Given the description of an element on the screen output the (x, y) to click on. 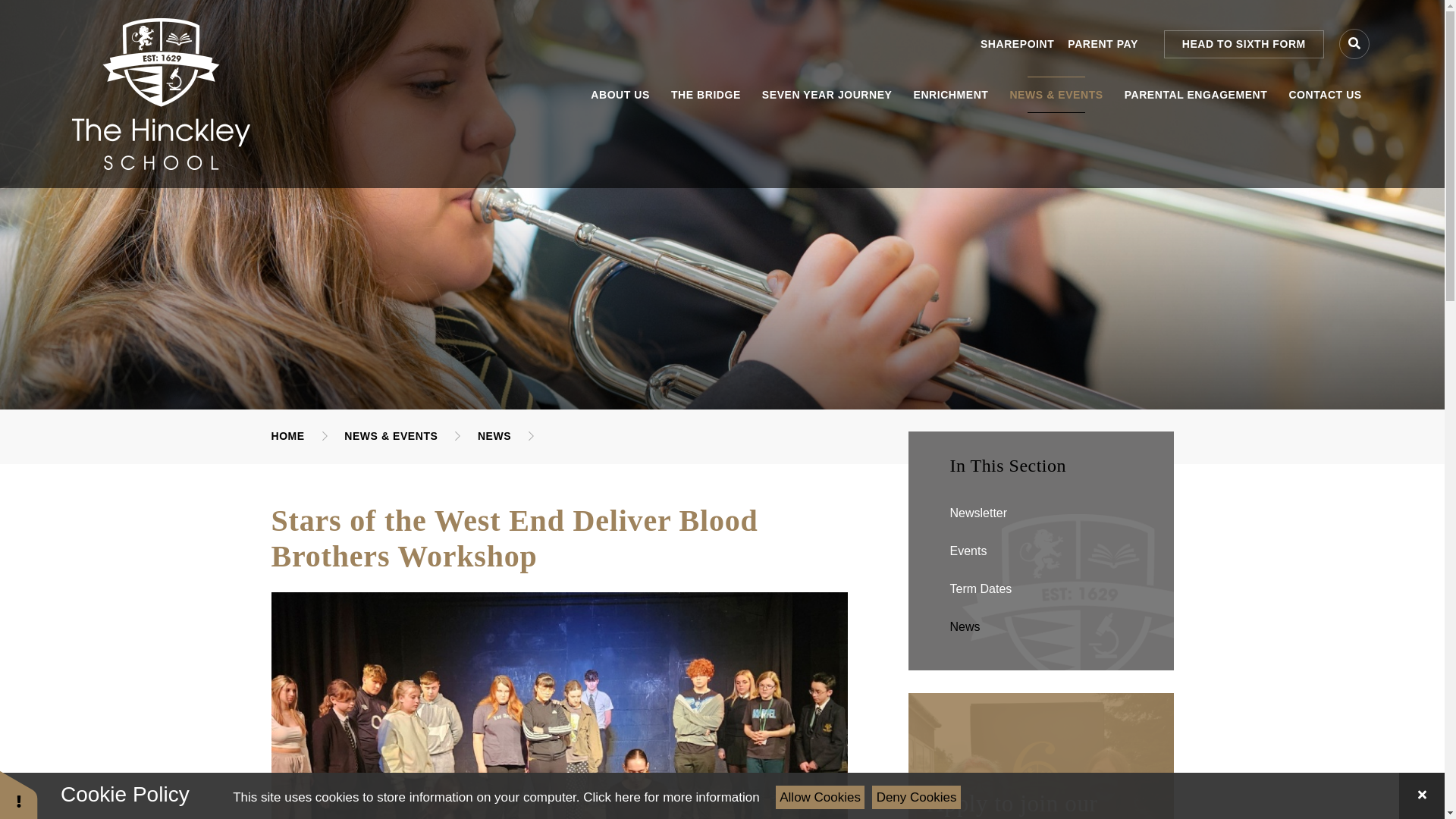
Allow Cookies (820, 797)
THE BRIDGE (706, 94)
SEVEN YEAR JOURNEY (826, 94)
ABOUT US (620, 94)
See cookie policy (670, 797)
SHAREPOINT (1016, 43)
PARENT PAY (1102, 43)
HEAD TO SIXTH FORM (1243, 44)
Deny Cookies (915, 797)
